Given the description of an element on the screen output the (x, y) to click on. 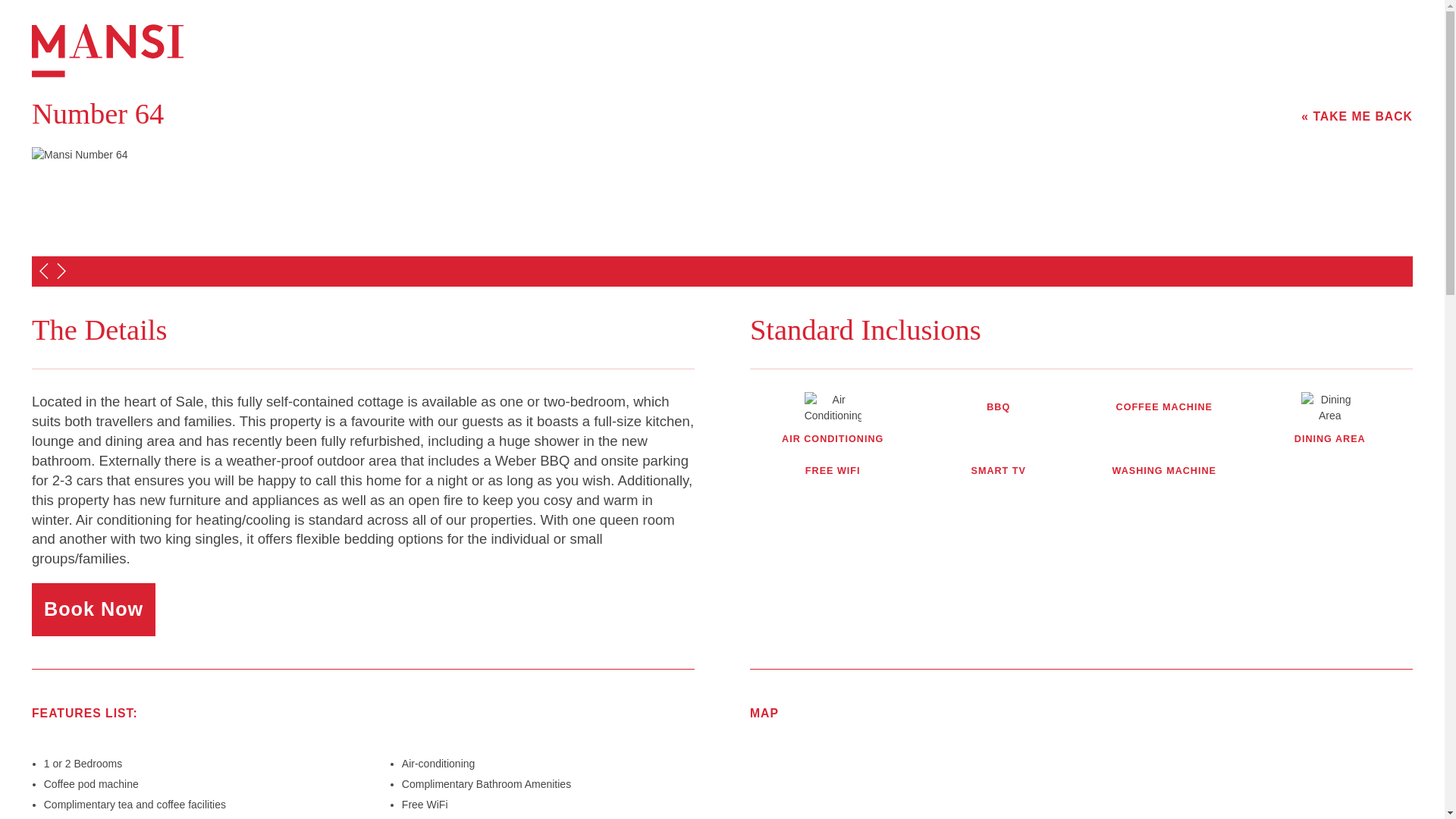
Book Now Element type: text (93, 609)
Mansi on Raymond Element type: text (75, 40)
